Given the description of an element on the screen output the (x, y) to click on. 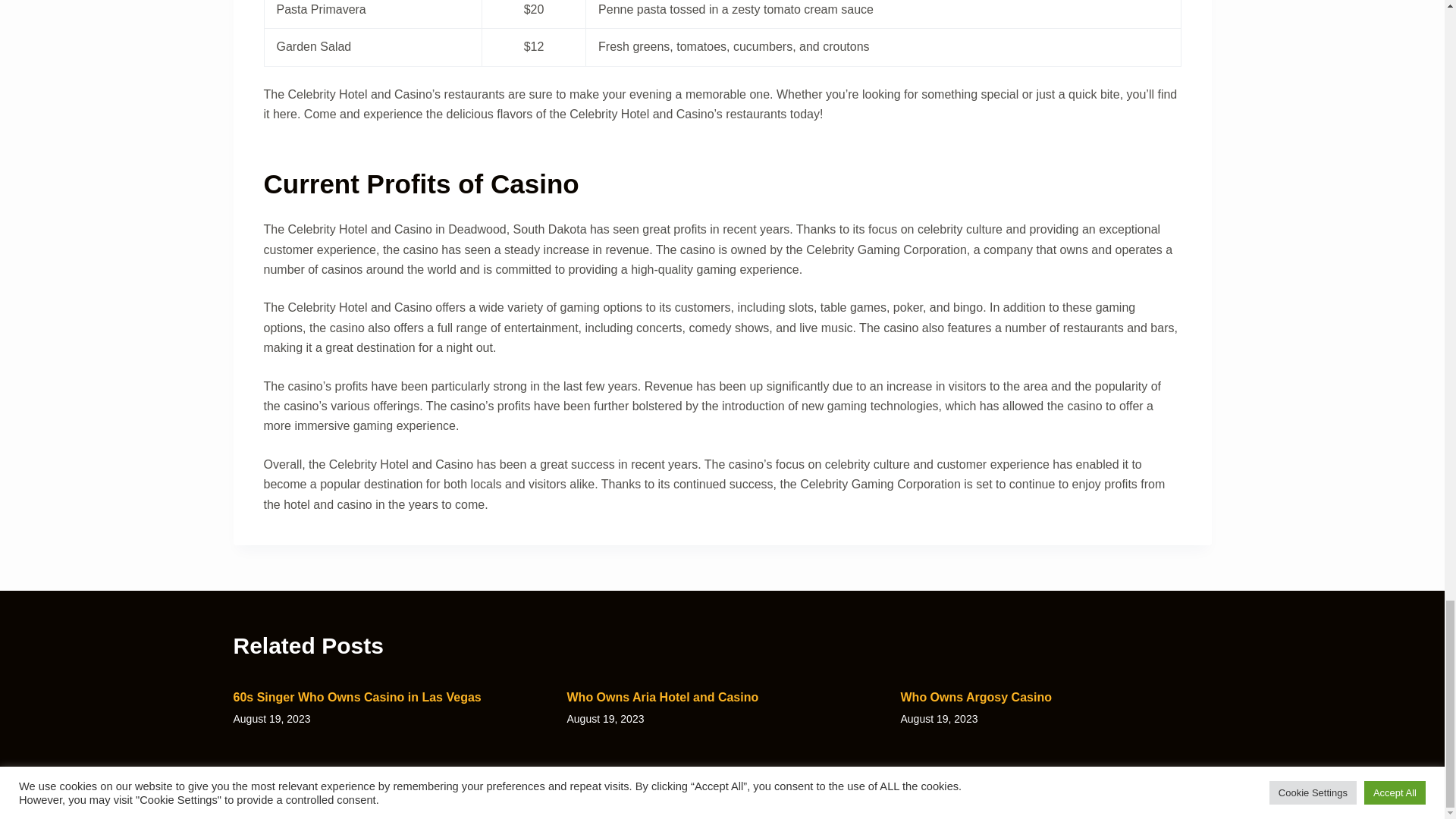
Who Owns Aria Hotel and Casino (662, 697)
60s Singer Who Owns Casino in Las Vegas (356, 697)
Who Owns Argosy Casino (976, 697)
